Given the description of an element on the screen output the (x, y) to click on. 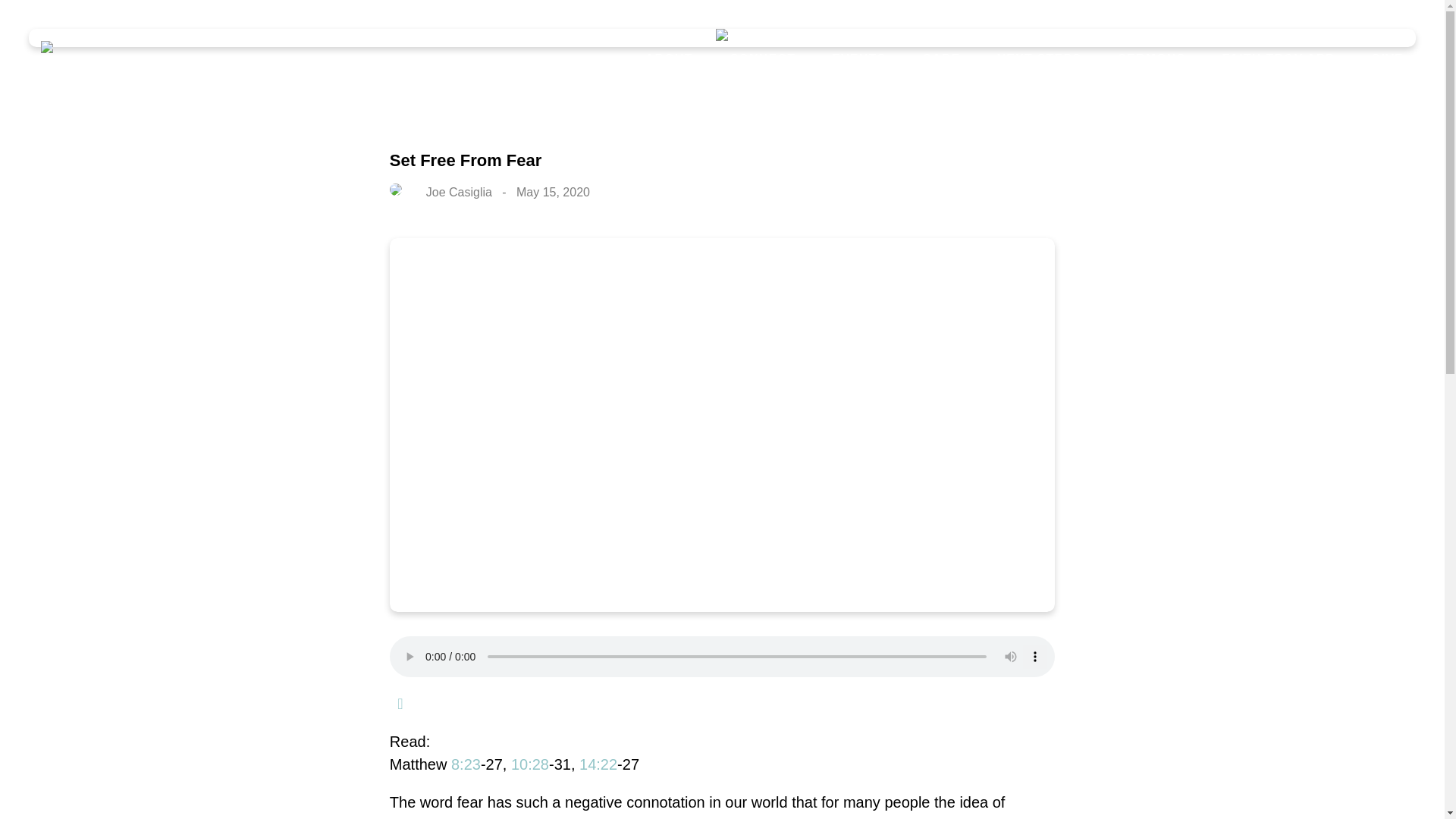
CONNECT (762, 59)
GIVE (1387, 59)
SERMONS (1151, 59)
CARE (940, 59)
EVENTS (858, 59)
FAITH TROY APP (1277, 59)
ABOUT (669, 59)
NEXT STEPS (1039, 59)
